Given the description of an element on the screen output the (x, y) to click on. 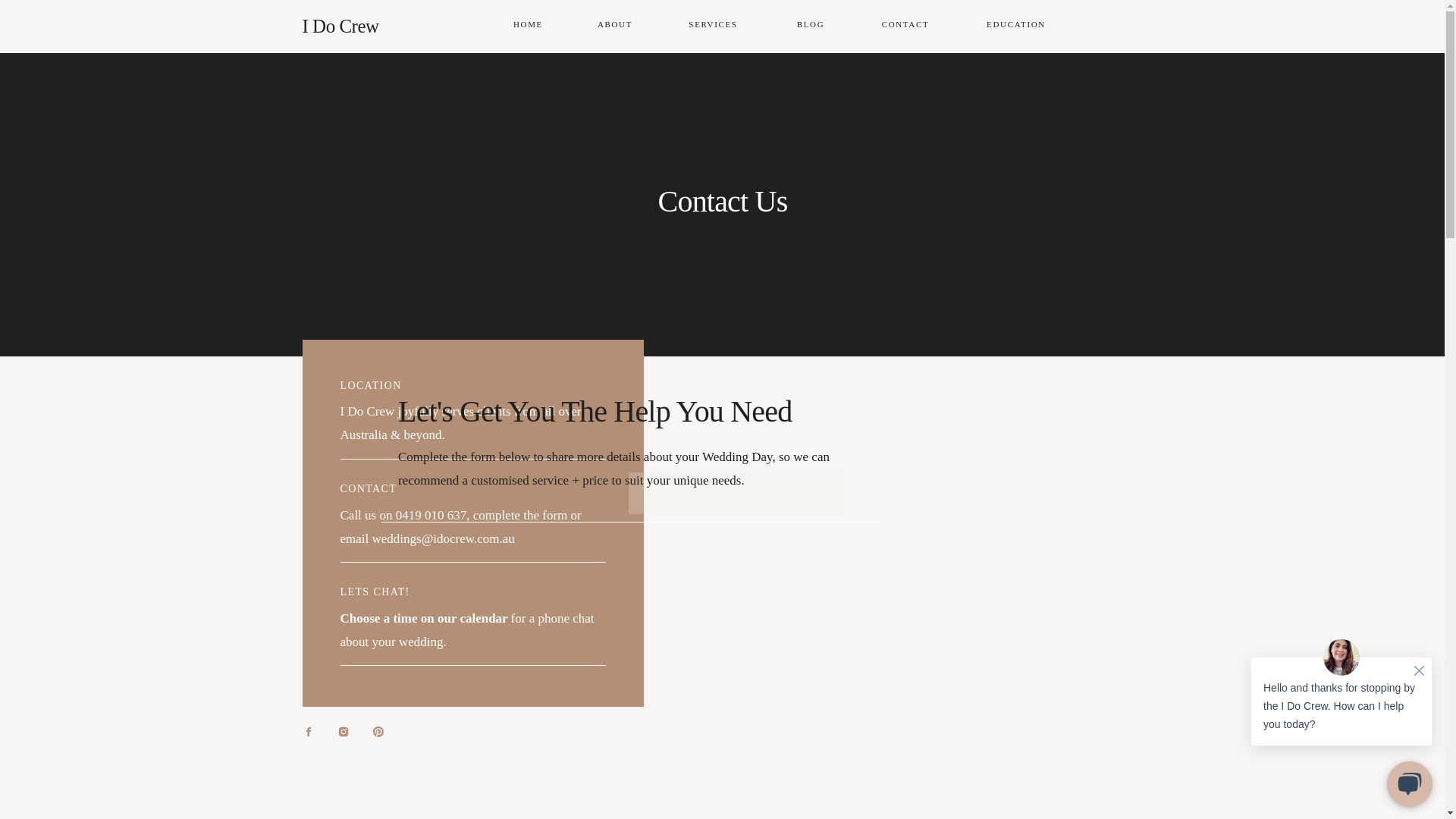
LETS CHAT! Element type: text (374, 591)
SERVICES Element type: text (712, 25)
BLOG Element type: text (810, 25)
EDUCATION Element type: text (1016, 25)
ABOUT Element type: text (615, 25)
HOME Element type: text (528, 25)
CONTACT Element type: text (904, 25)
I Do Crew Element type: text (376, 26)
